Given the description of an element on the screen output the (x, y) to click on. 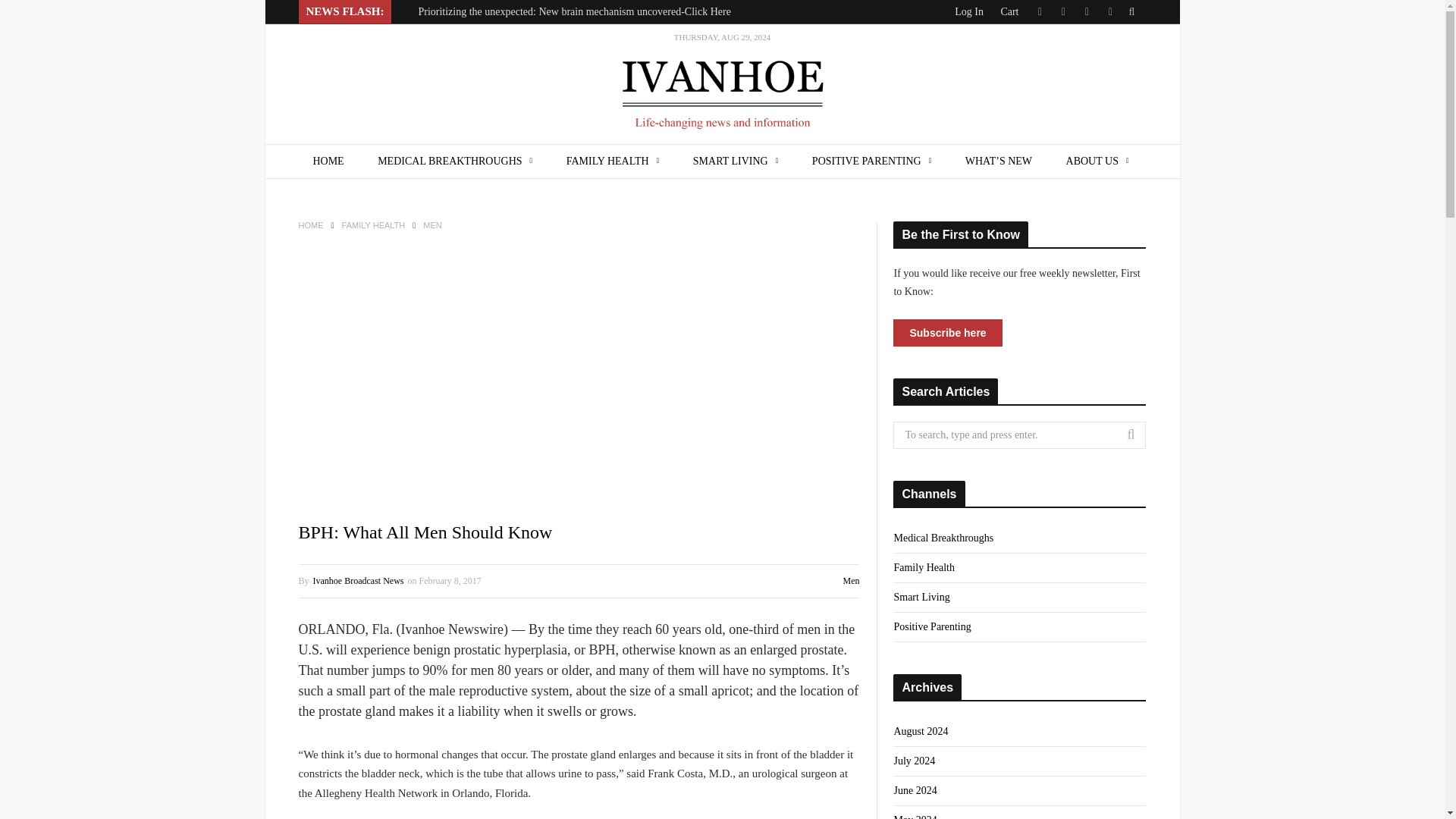
Facebook (1062, 11)
Ivanhoe Broadcast News, Inc. (722, 84)
Youtube (1109, 11)
HOME (327, 161)
Twitter (1039, 11)
Twitter (1039, 11)
THURSDAY, AUG 29, 2024 (722, 84)
LinkedIn (1087, 11)
LinkedIn (1087, 11)
